Given the description of an element on the screen output the (x, y) to click on. 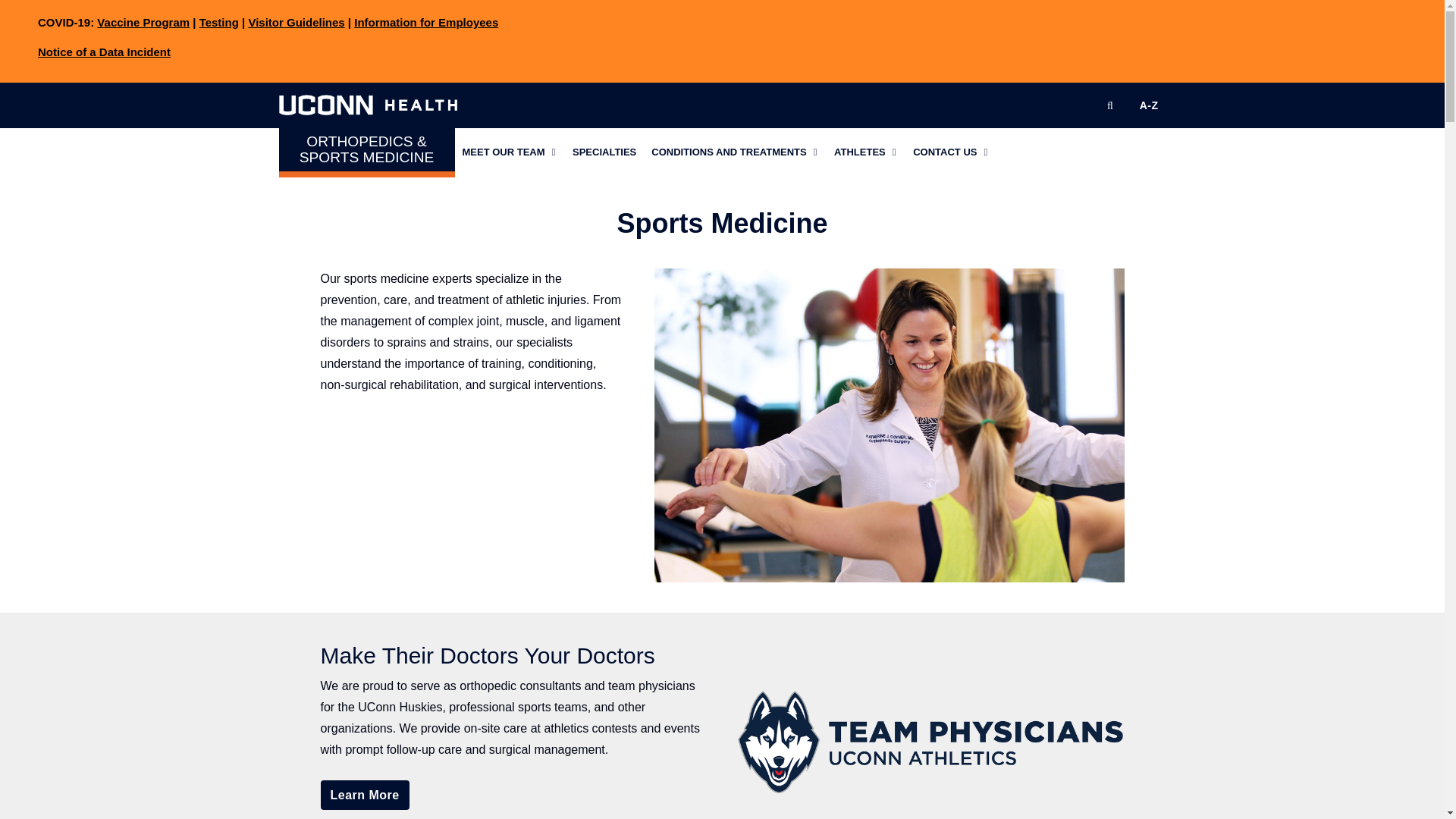
CONTACT US (951, 151)
Vaccine Program (143, 21)
Visitor Guidelines (295, 21)
SPECIALTIES (603, 151)
A-Z (1149, 104)
MEET OUR TEAM (510, 151)
ATHLETES (866, 151)
Information for Employees (425, 21)
Testing (218, 21)
Notice of a Data Incident (103, 51)
